Given the description of an element on the screen output the (x, y) to click on. 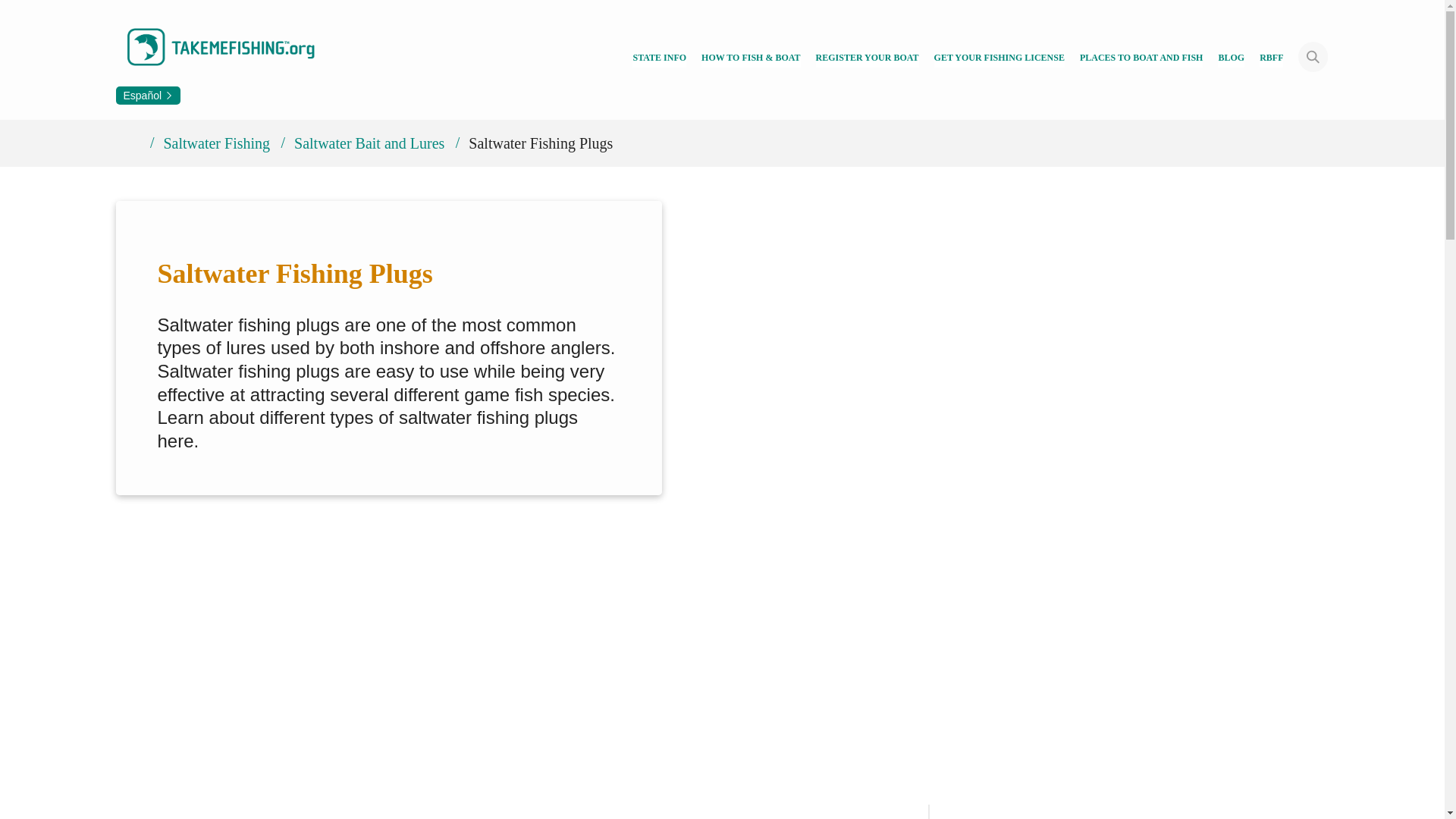
Register Your Boat (866, 59)
Blog (1230, 59)
State Info (658, 59)
RBFF (1270, 59)
Get Your Fishing License (999, 59)
Places To Boat And Fish (1142, 59)
